Given the description of an element on the screen output the (x, y) to click on. 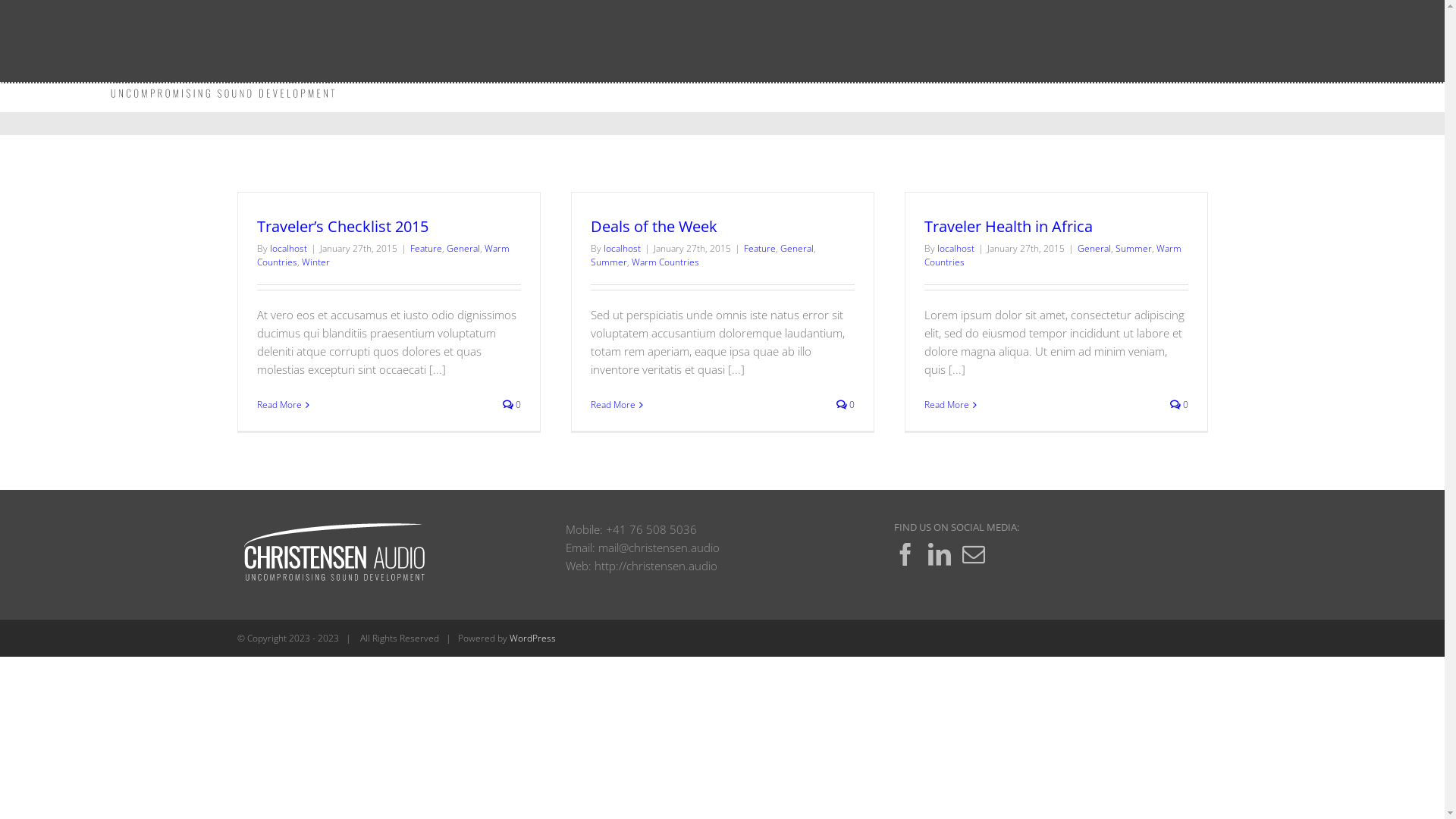
General Element type: text (795, 247)
SOLUTIONS Element type: text (1078, 43)
Traveler Health in Africa Element type: text (1007, 226)
mail@christensen.audio Element type: text (658, 547)
CONTACT US Element type: text (1289, 43)
PRODUCTS Element type: text (980, 43)
Feature Element type: text (425, 247)
localhost Element type: text (955, 247)
General Element type: text (462, 247)
 0 Element type: text (844, 404)
Summer Element type: text (607, 261)
WordPress Element type: text (532, 637)
SONDUCTOR Element type: text (1181, 43)
localhost Element type: text (621, 247)
Read More Element type: text (611, 404)
 0 Element type: text (1178, 404)
localhost Element type: text (288, 247)
Read More Element type: text (945, 404)
Winter Element type: text (315, 261)
Warm Countries Element type: text (664, 261)
Deals of the Week Element type: text (652, 226)
ABOUT Element type: text (897, 43)
 0 Element type: text (511, 404)
Read More Element type: text (278, 404)
Warm Countries Element type: text (1051, 254)
http://christensen.audio Element type: text (655, 565)
Feature Element type: text (759, 247)
HOME Element type: text (829, 43)
General Element type: text (1093, 247)
Warm Countries Element type: text (382, 254)
Summer Element type: text (1132, 247)
